Given the description of an element on the screen output the (x, y) to click on. 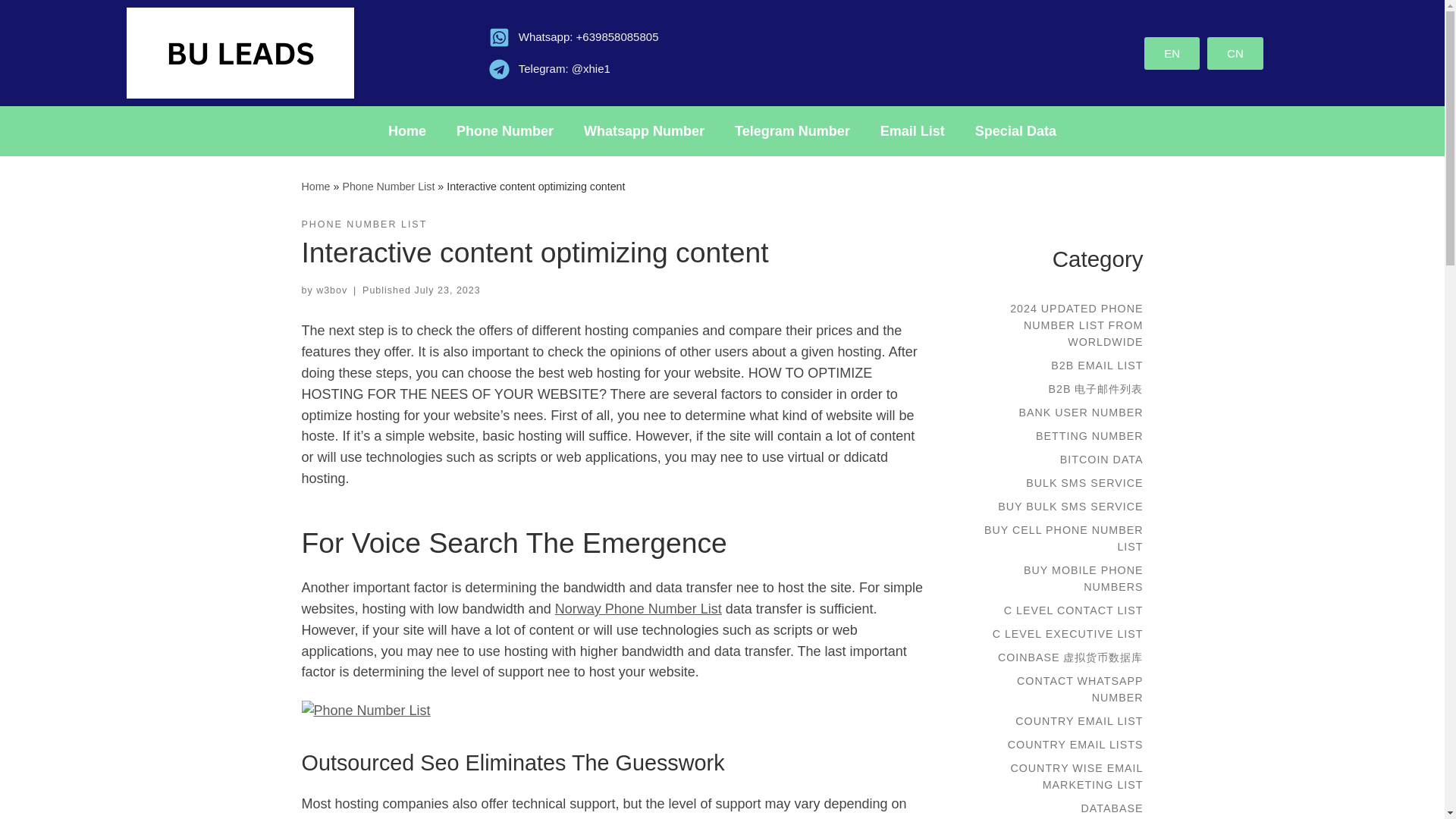
Phone Number List (387, 186)
View all posts by w3bov (331, 290)
Phone Number List (387, 186)
Special Data (1015, 130)
Home (315, 186)
Whatsapp Number (644, 130)
11:31 am (446, 290)
w3bov (331, 290)
PHONE NUMBER LIST (364, 224)
BU Leads (620, 817)
